Given the description of an element on the screen output the (x, y) to click on. 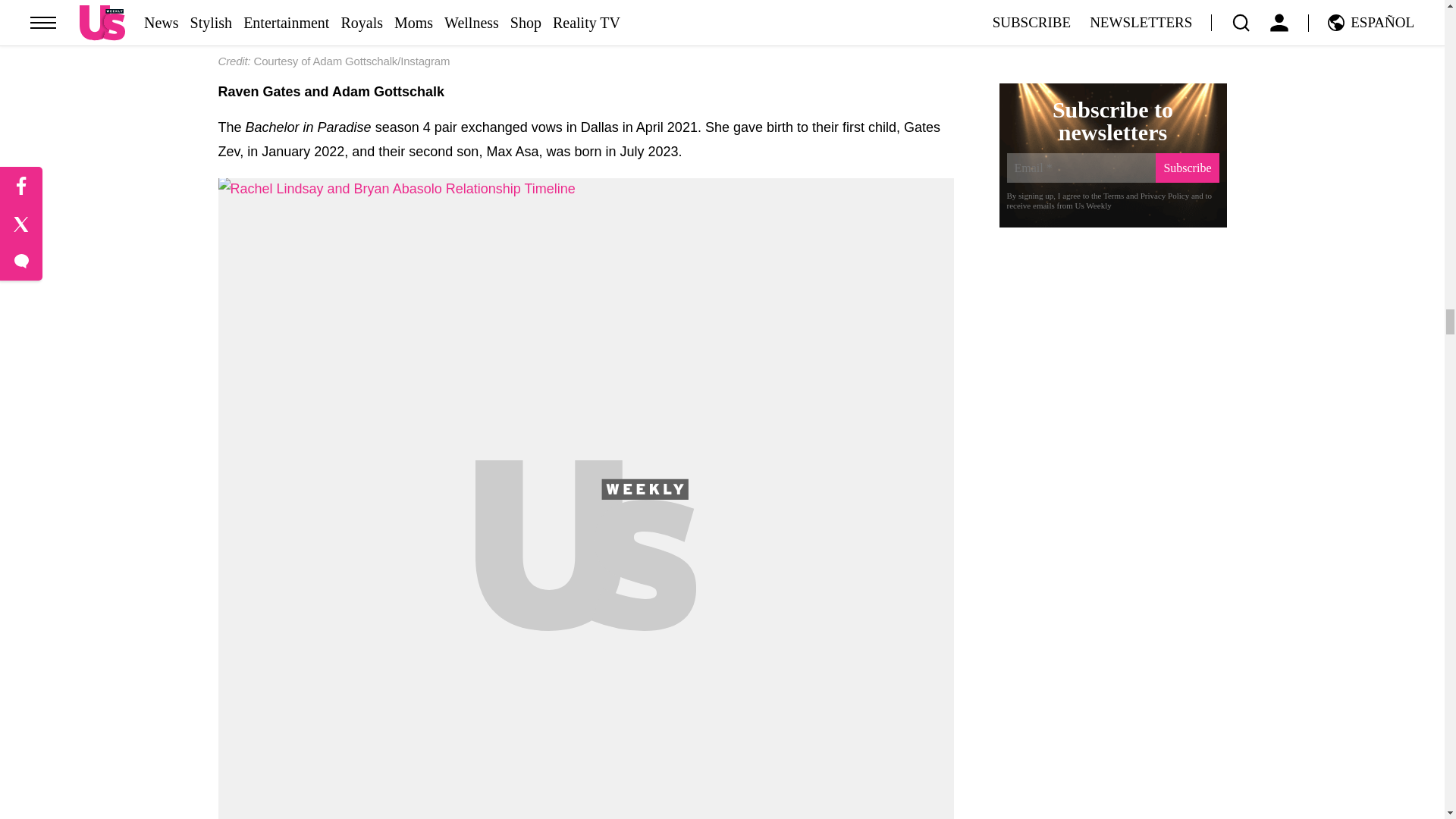
Raven Gates and Adam Gottschalk (585, 34)
